Given the description of an element on the screen output the (x, y) to click on. 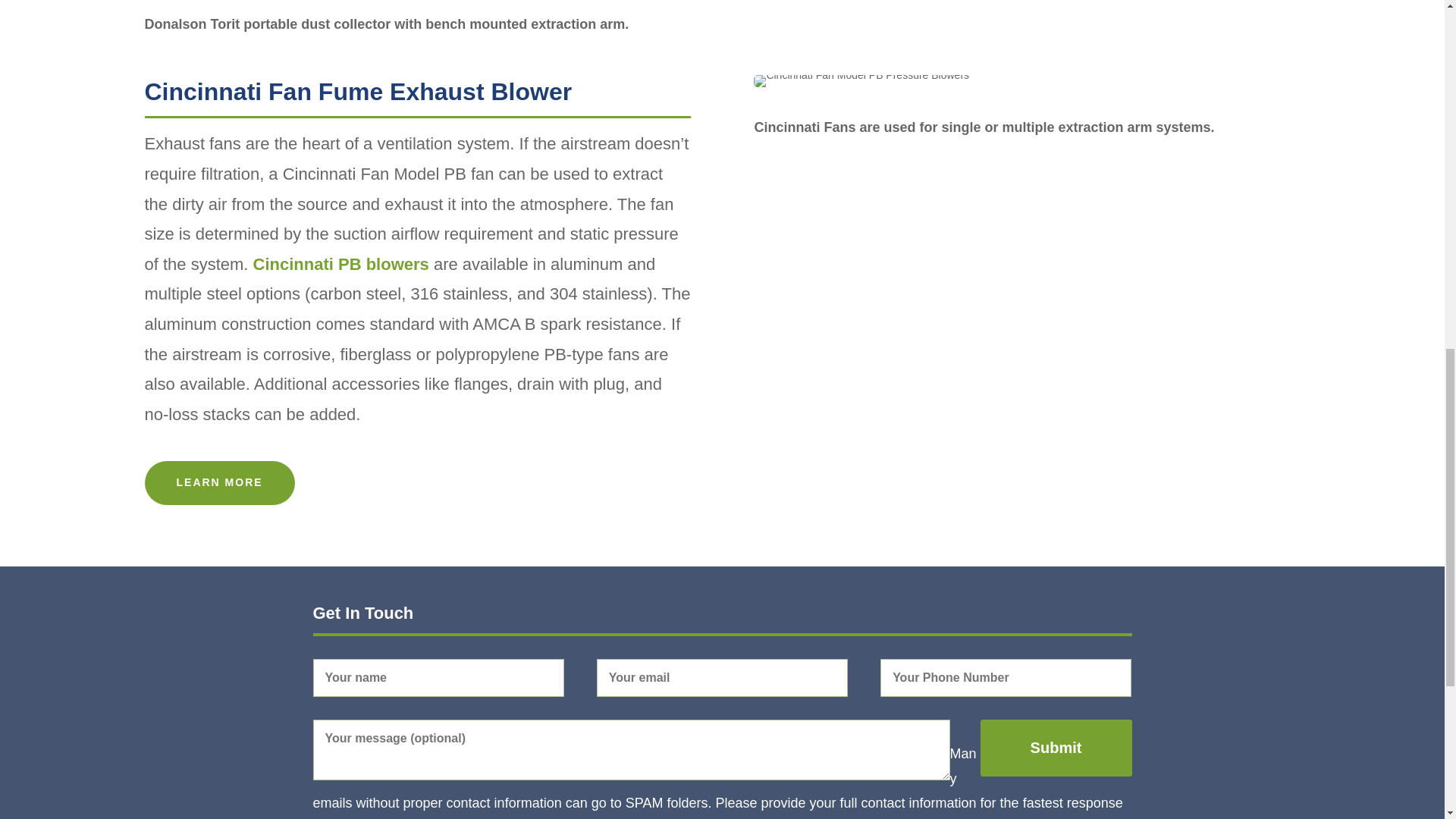
Submit (1055, 747)
LEARN MORE (219, 483)
Submit (1055, 747)
Cincinnati Fan Model PB Cast Aluminum Pressure Blowers (861, 80)
Cincinnati PB blowers (341, 263)
